Given the description of an element on the screen output the (x, y) to click on. 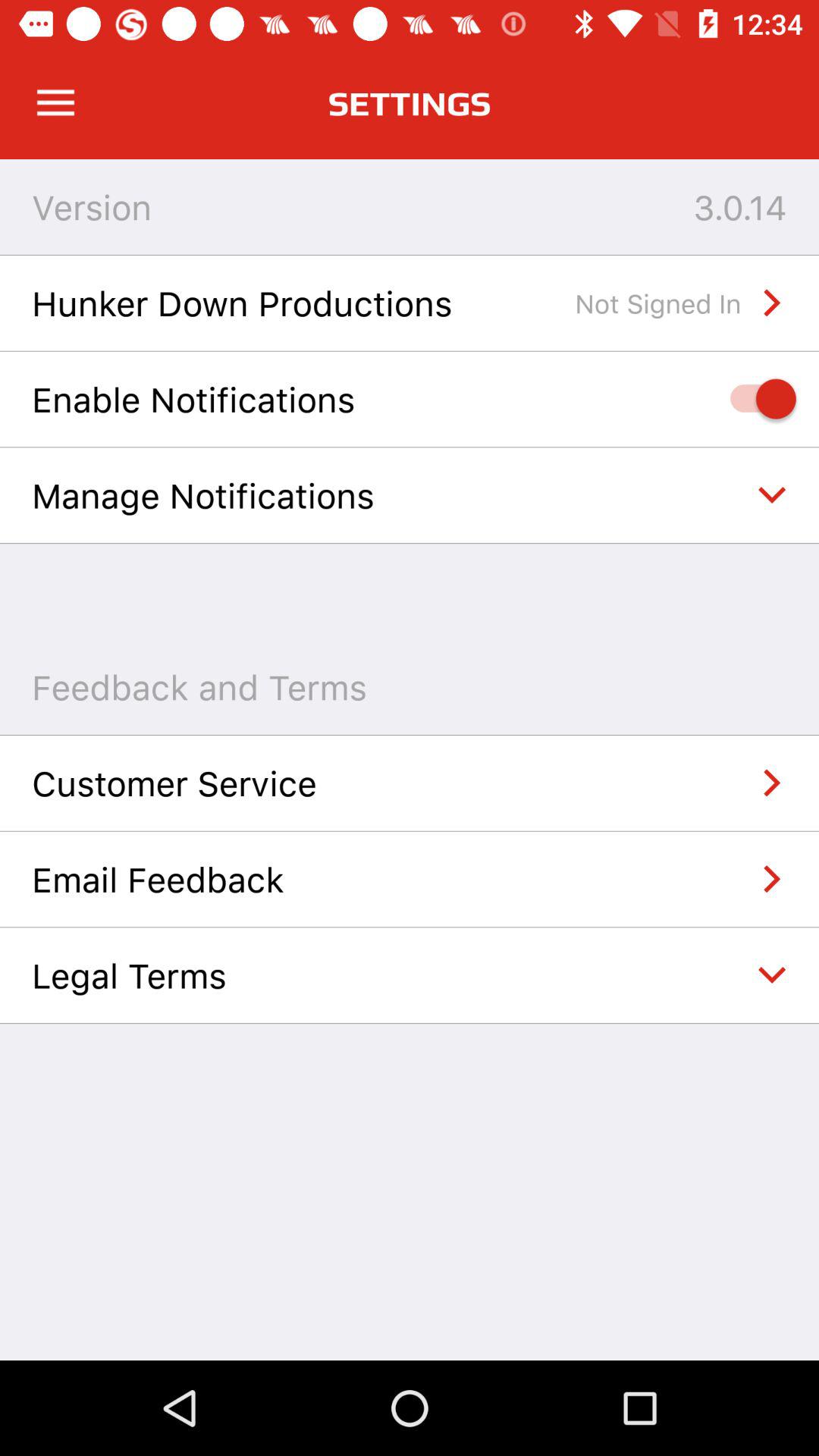
enable notifications option (755, 398)
